Given the description of an element on the screen output the (x, y) to click on. 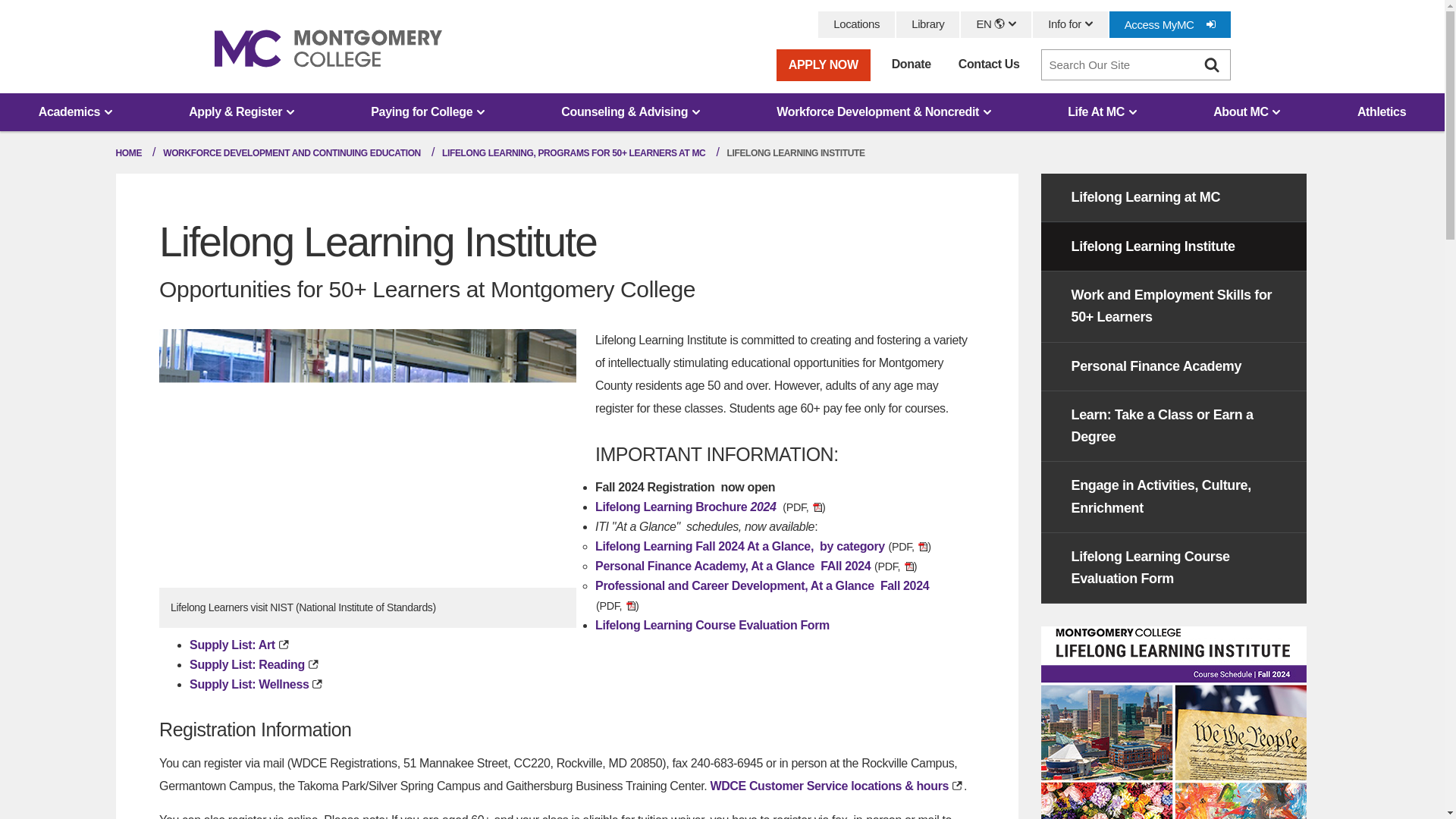
APPLY NOW (823, 65)
Locations (856, 24)
Info for (1070, 24)
Access MyMC (1169, 24)
Contact Us (989, 64)
